Given the description of an element on the screen output the (x, y) to click on. 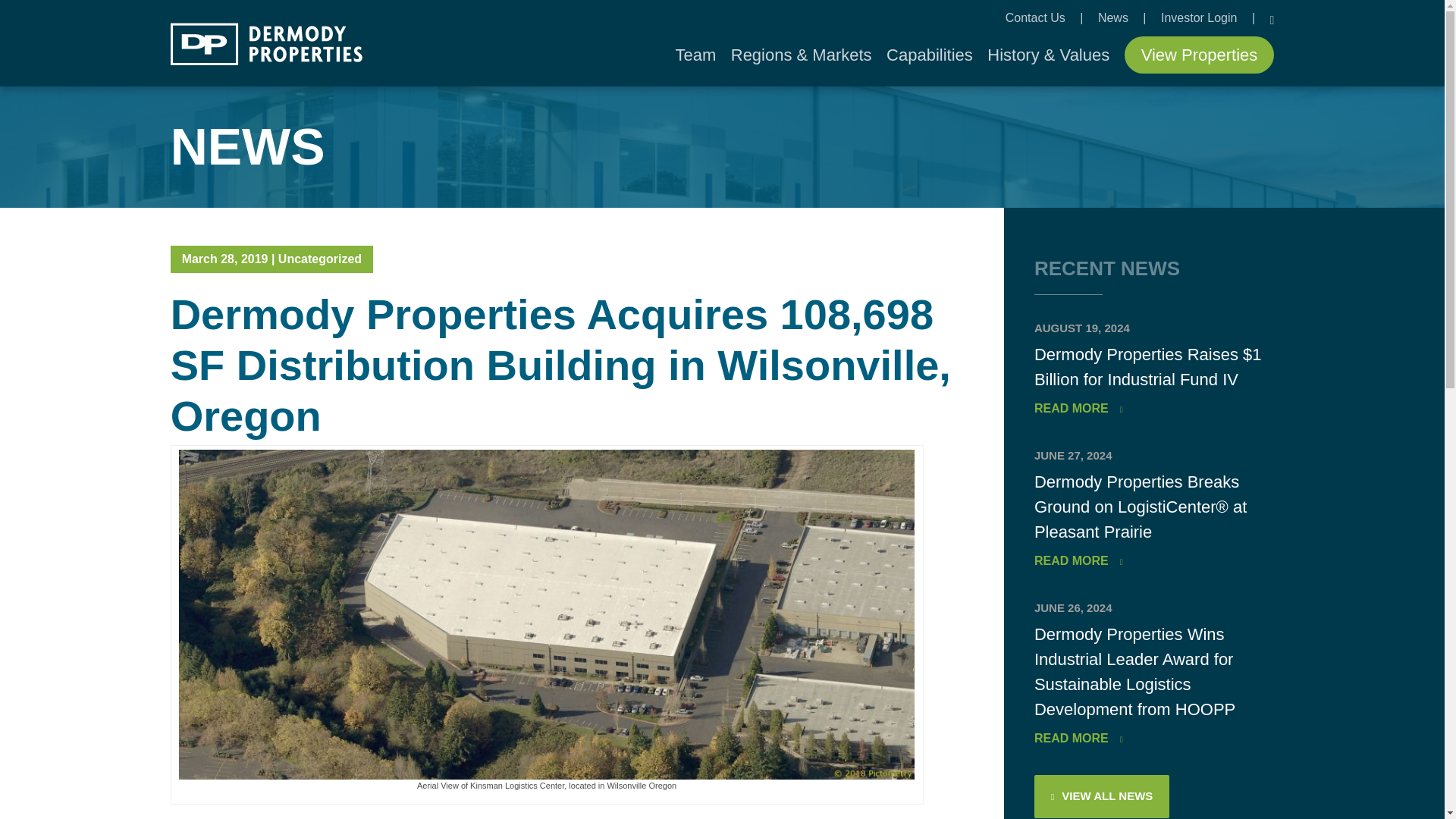
View Properties (1199, 54)
Capabilities (929, 54)
Investor Login (1200, 17)
News (1114, 17)
Contact Us (1037, 17)
Team (695, 54)
